Given the description of an element on the screen output the (x, y) to click on. 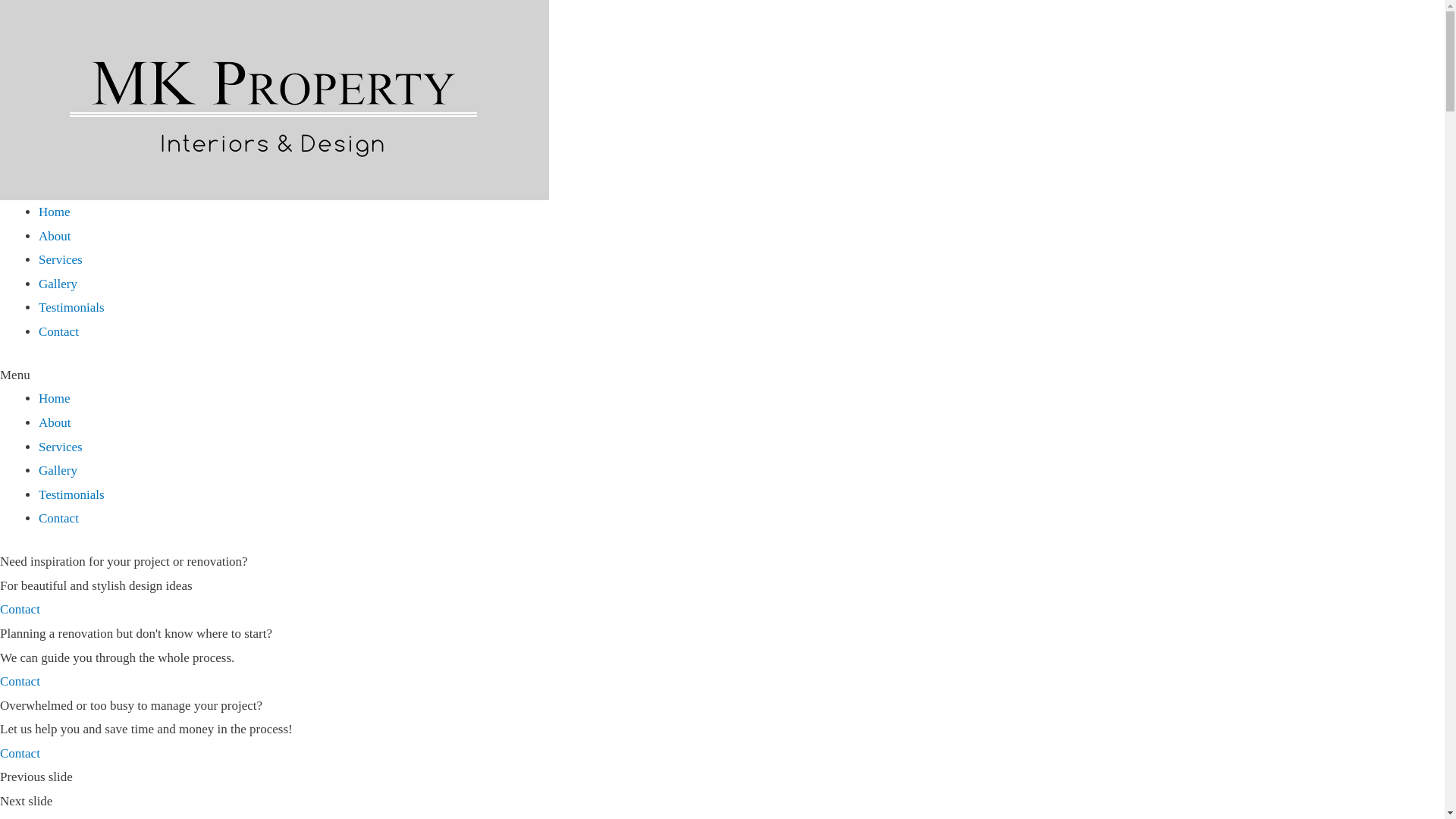
Contact Element type: text (58, 518)
Gallery Element type: text (57, 283)
About Element type: text (54, 236)
Contact Element type: text (20, 681)
Services Element type: text (60, 446)
Gallery Element type: text (57, 470)
Home Element type: text (54, 398)
Services Element type: text (60, 259)
Contact Element type: text (20, 753)
About Element type: text (54, 422)
Home Element type: text (54, 211)
Contact Element type: text (58, 331)
Testimonials Element type: text (71, 307)
Contact Element type: text (20, 609)
Testimonials Element type: text (71, 494)
